Given the description of an element on the screen output the (x, y) to click on. 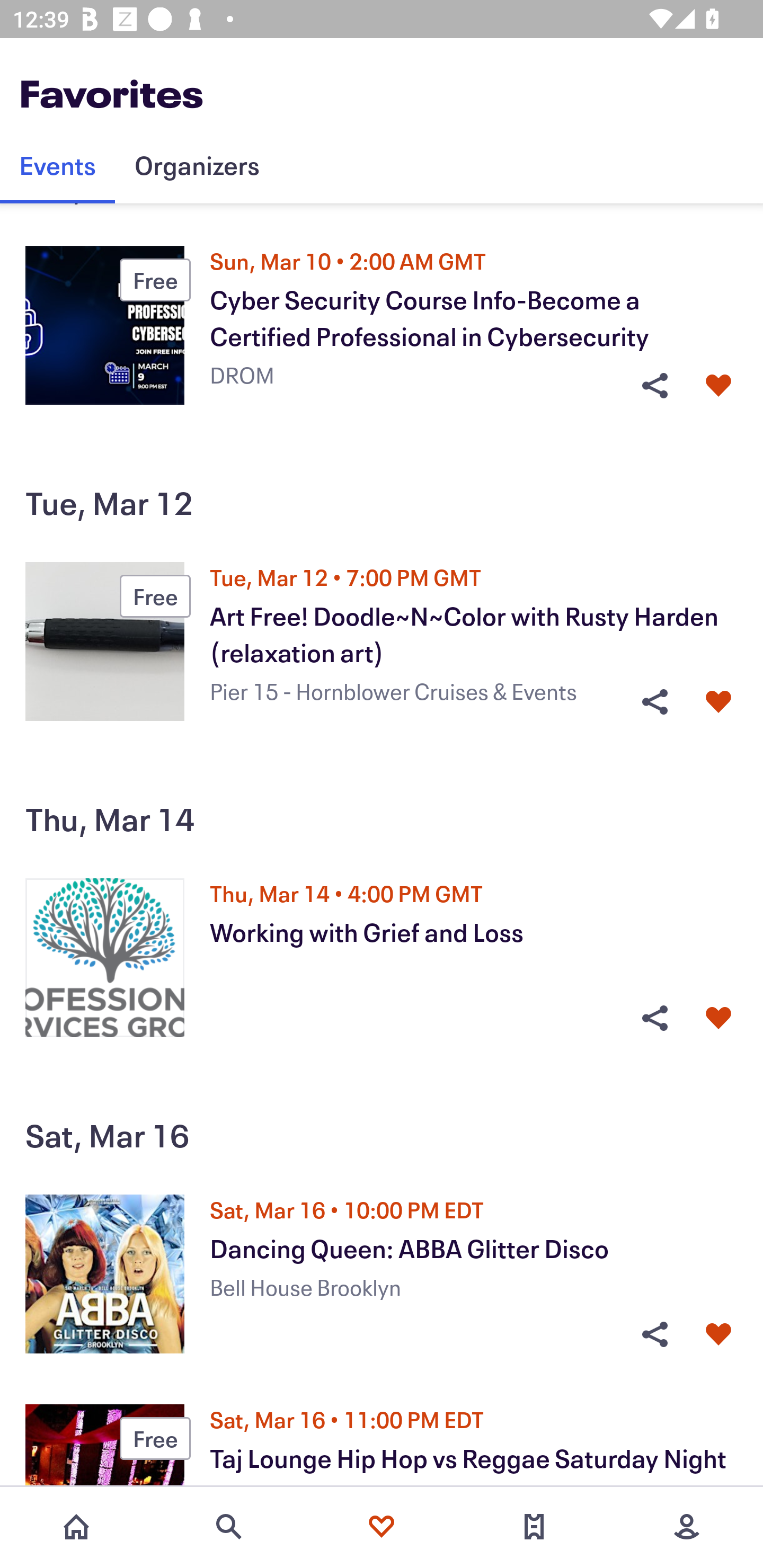
Organizers (196, 165)
Share Event (654, 385)
Unlike event (718, 385)
Share Event (654, 701)
Unlike event (718, 701)
Share Event (654, 1017)
Unlike event (718, 1017)
Share Event (654, 1334)
Unlike event (718, 1334)
Home (76, 1526)
Search events (228, 1526)
Favorites (381, 1526)
Tickets (533, 1526)
More (686, 1526)
